Given the description of an element on the screen output the (x, y) to click on. 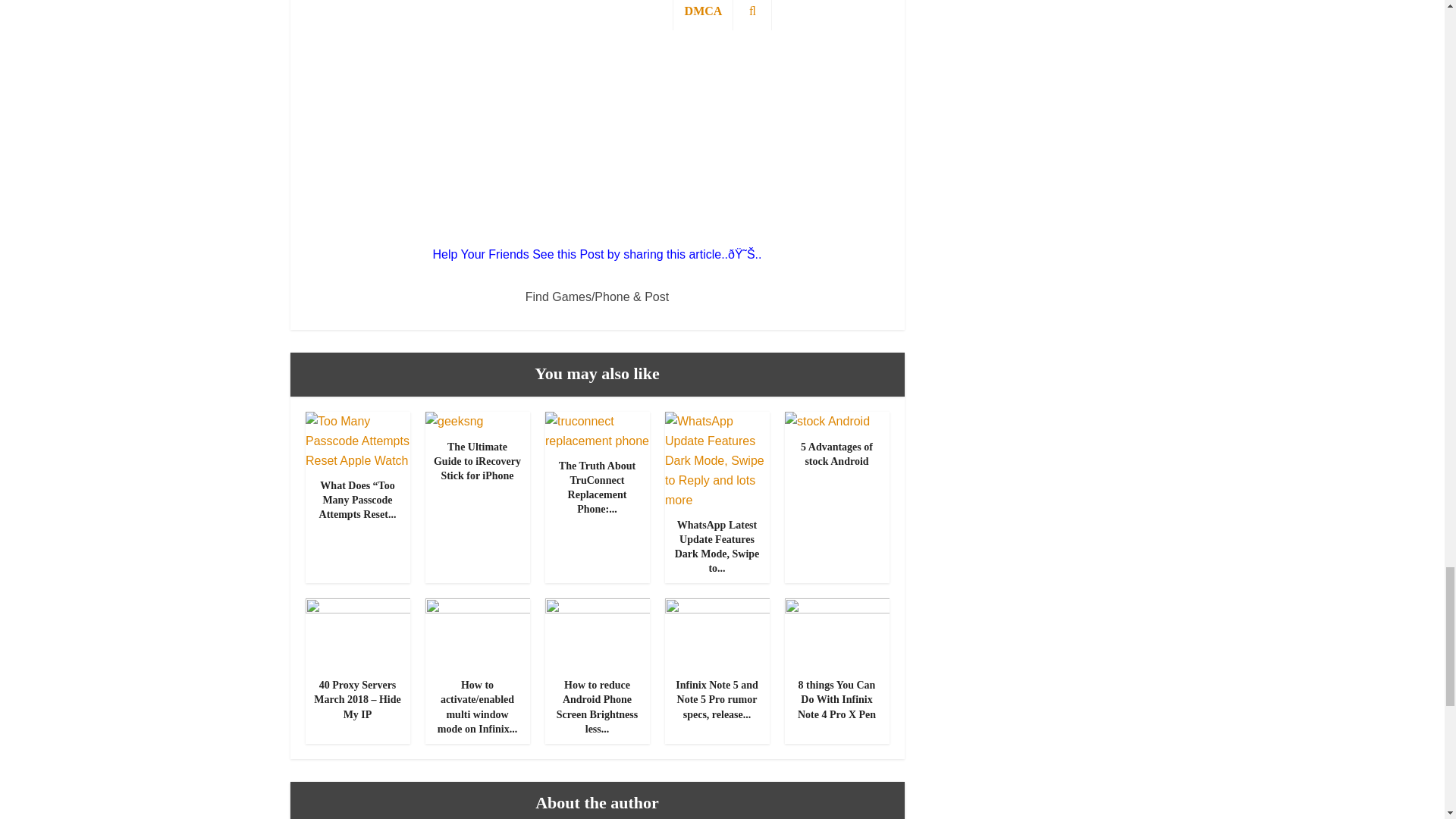
5 Advantages of stock Android (826, 420)
The Ultimate Guide to iRecovery Stick for iPhone (477, 461)
The Truth About TruConnect Replacement Phone: Guidelines (596, 430)
The Ultimate Guide to iRecovery Stick for iPhone (454, 420)
The Truth About TruConnect Replacement Phone: Guidelines (596, 487)
5 Advantages of stock Android (836, 453)
